Given the description of an element on the screen output the (x, y) to click on. 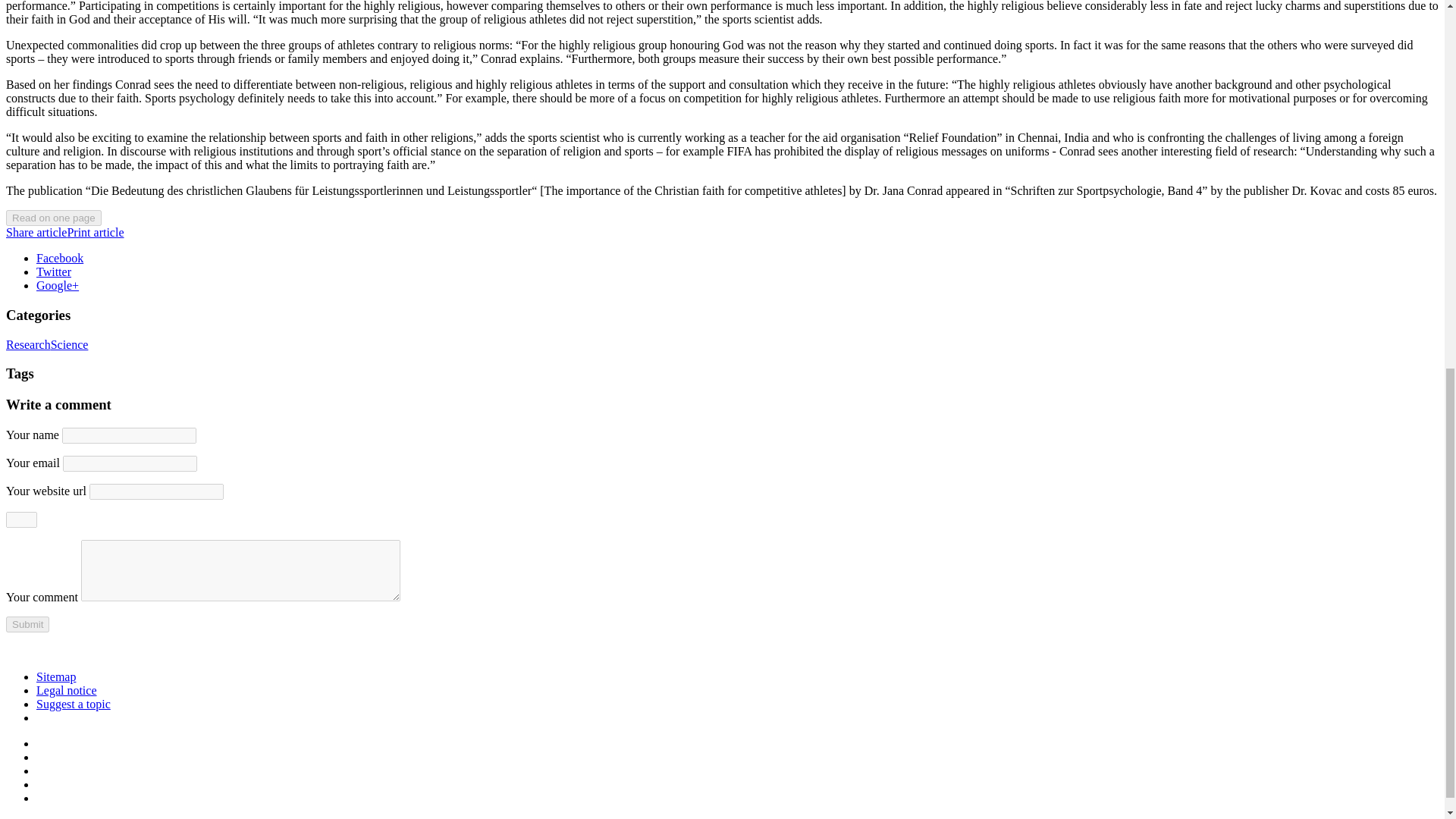
Sitemap (55, 676)
Facebook (59, 257)
Suggest a topic (73, 703)
Read on one page (53, 217)
Twitter (53, 271)
Submit (27, 624)
Legal notice (66, 689)
Science (69, 344)
Print article (94, 232)
Research (27, 344)
